Given the description of an element on the screen output the (x, y) to click on. 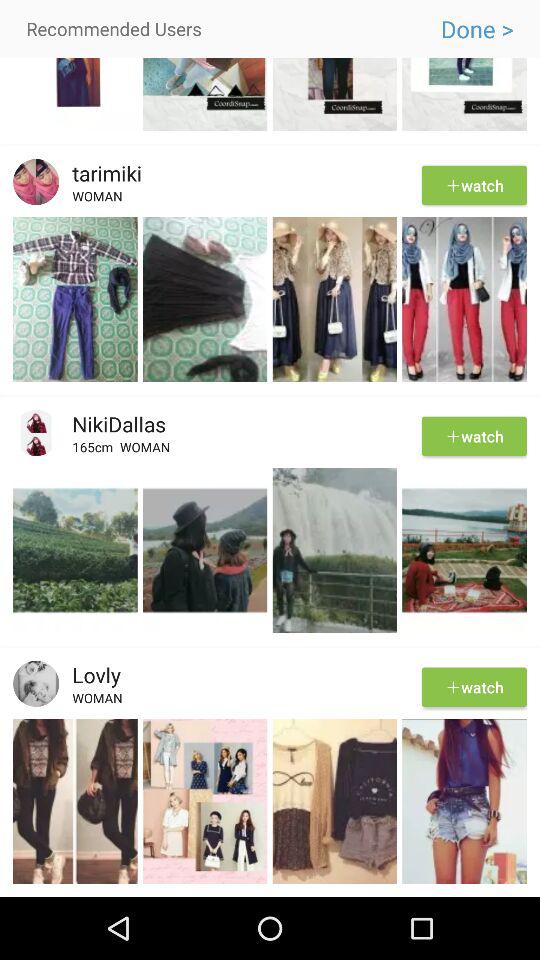
jump to done > icon (476, 29)
